Given the description of an element on the screen output the (x, y) to click on. 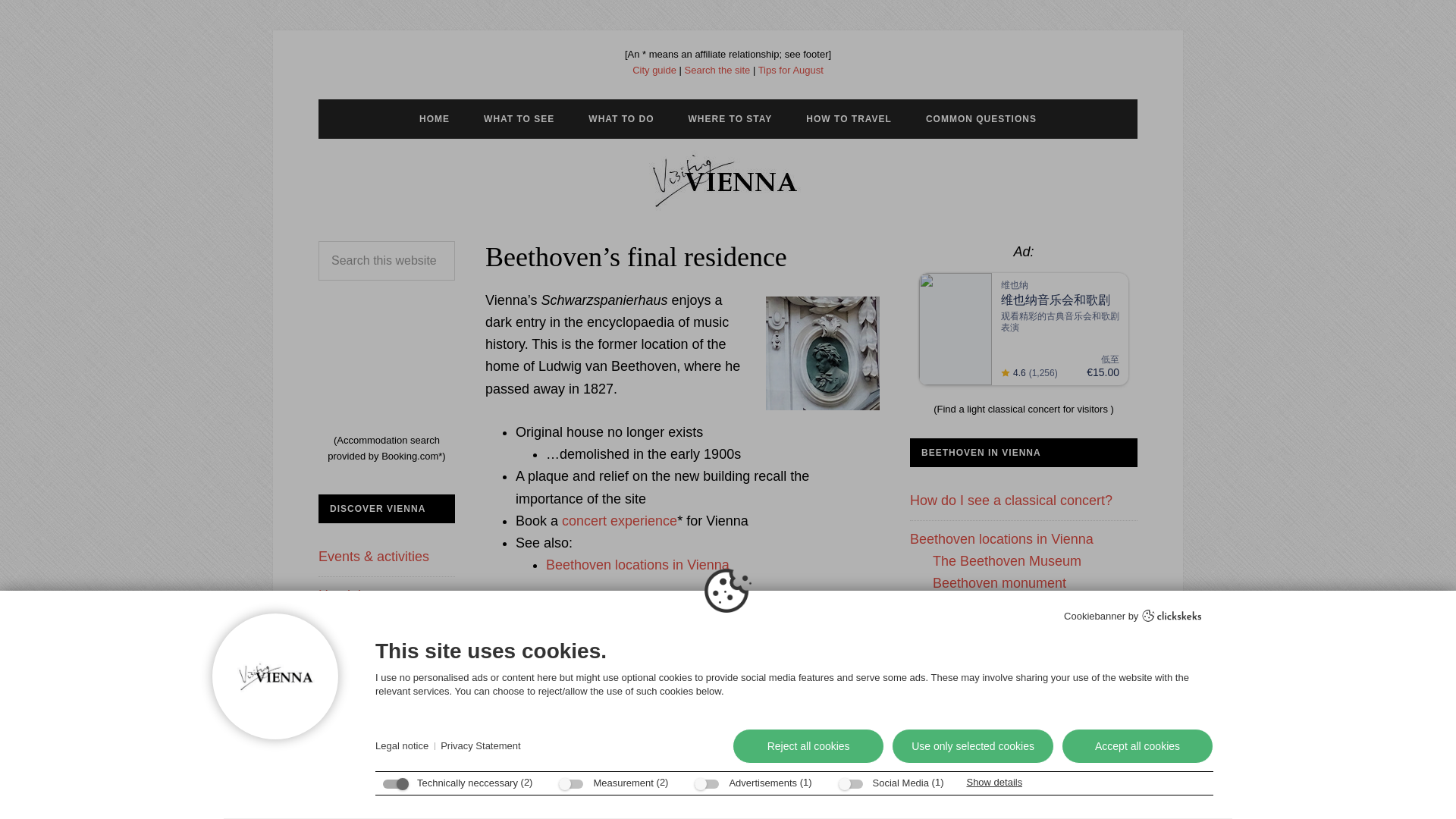
Sightseeing in Vienna (383, 632)
Beethoven locations in Vienna (1001, 539)
Schubert in Vienna (967, 764)
Museums (370, 721)
Haus der Musik (980, 649)
COMMON QUESTIONS (981, 118)
Stephansdom (382, 788)
Beethoven monument (999, 582)
At New Year (378, 699)
Haydn in Vienna (960, 725)
